Given the description of an element on the screen output the (x, y) to click on. 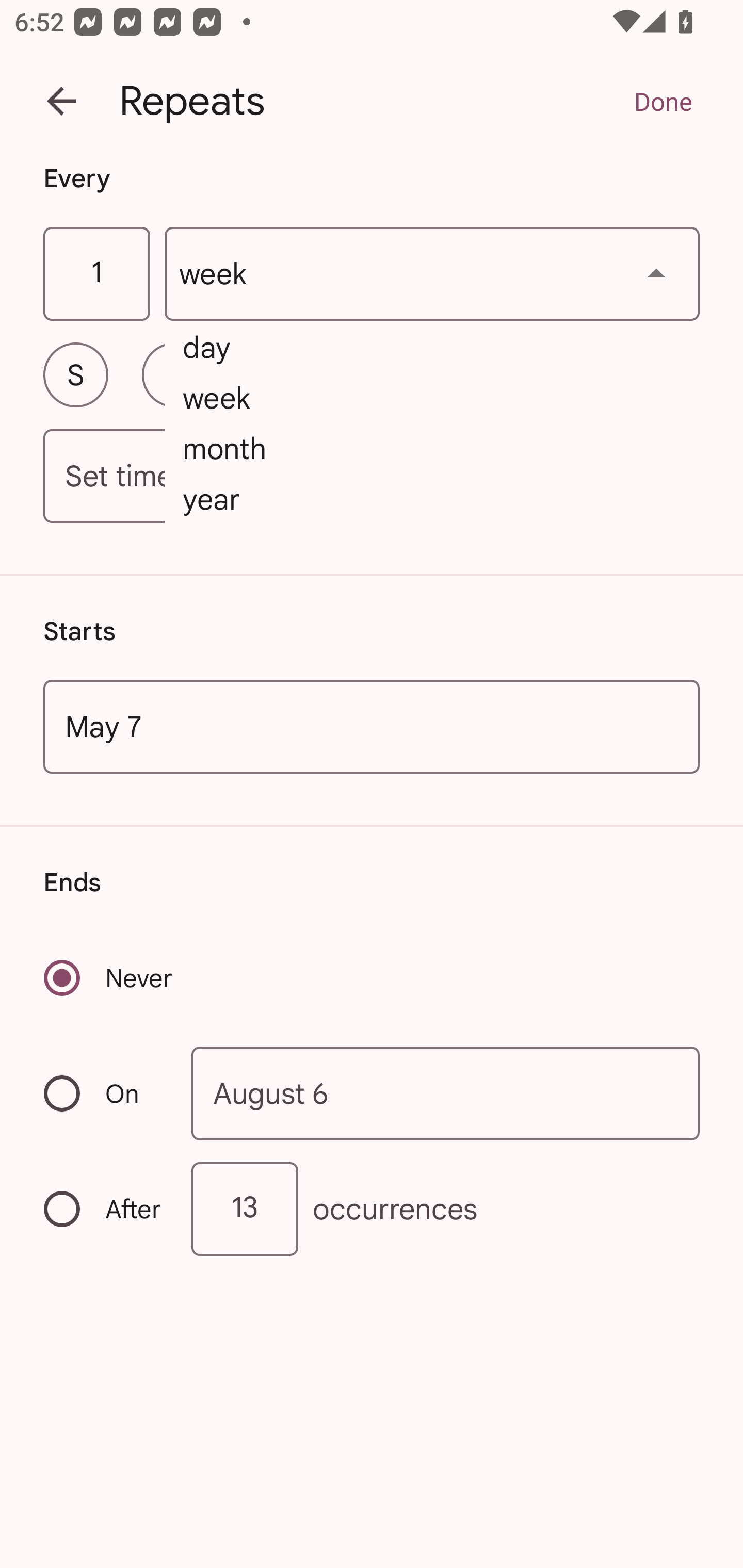
Back (61, 101)
Done (663, 101)
1 (96, 274)
week (431, 274)
Show dropdown menu (655, 273)
S Sunday (75, 374)
Set time (371, 476)
May 7 (371, 726)
Never Recurrence never ends (109, 978)
August 6 (445, 1092)
On Recurrence ends on a specific date (104, 1093)
13 (244, 1208)
